Given the description of an element on the screen output the (x, y) to click on. 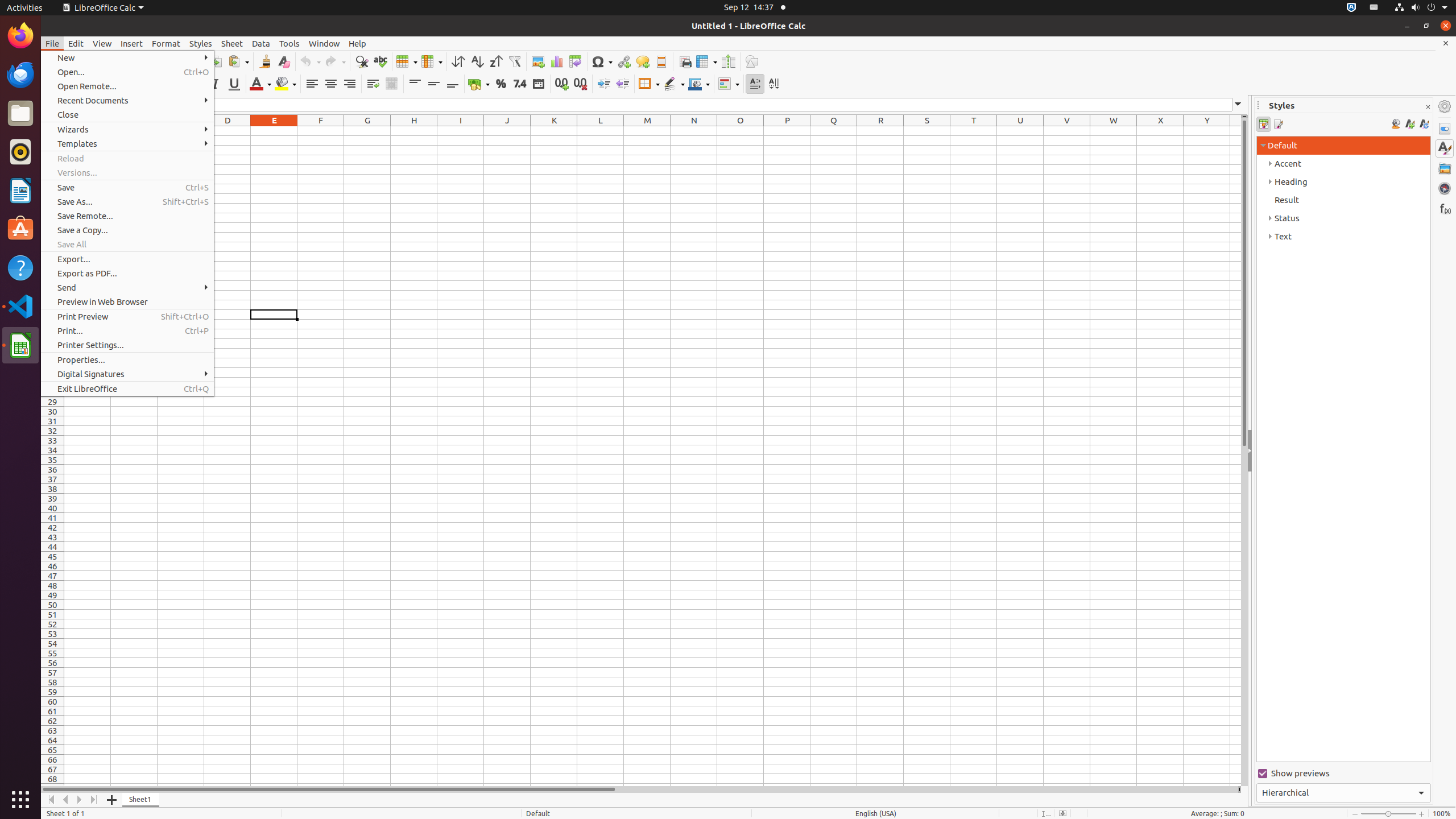
Reload Element type: menu-item (126, 158)
F1 Element type: table-cell (320, 130)
Text direction from left to right Element type: toggle-button (754, 83)
Align Left Element type: push-button (311, 83)
Move To Home Element type: push-button (51, 799)
